Given the description of an element on the screen output the (x, y) to click on. 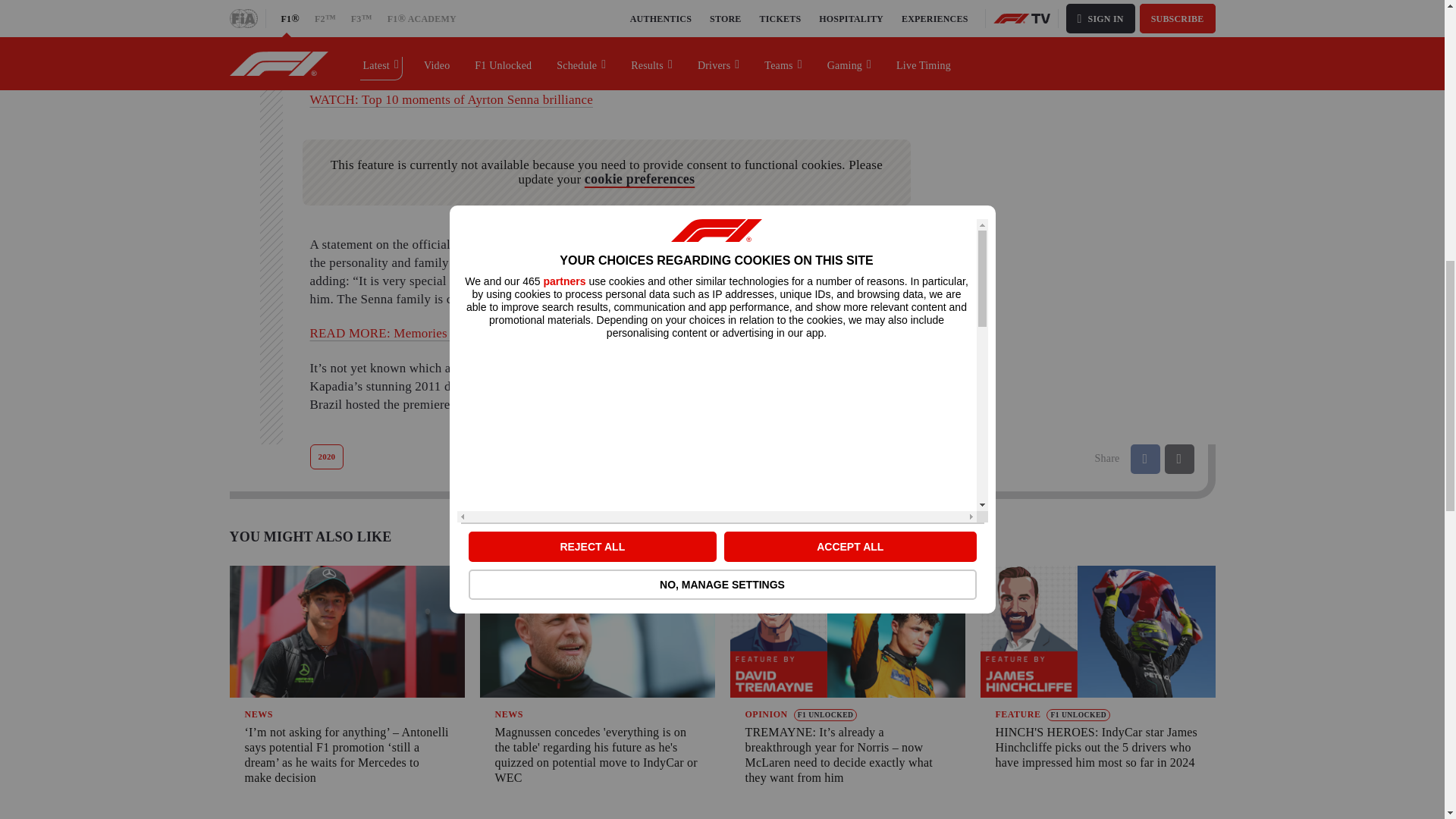
cookie preferences (639, 178)
tragic death at Imola (363, 65)
2020 (325, 456)
WATCH: Top 10 moments of Ayrton Senna brilliance (450, 99)
